Given the description of an element on the screen output the (x, y) to click on. 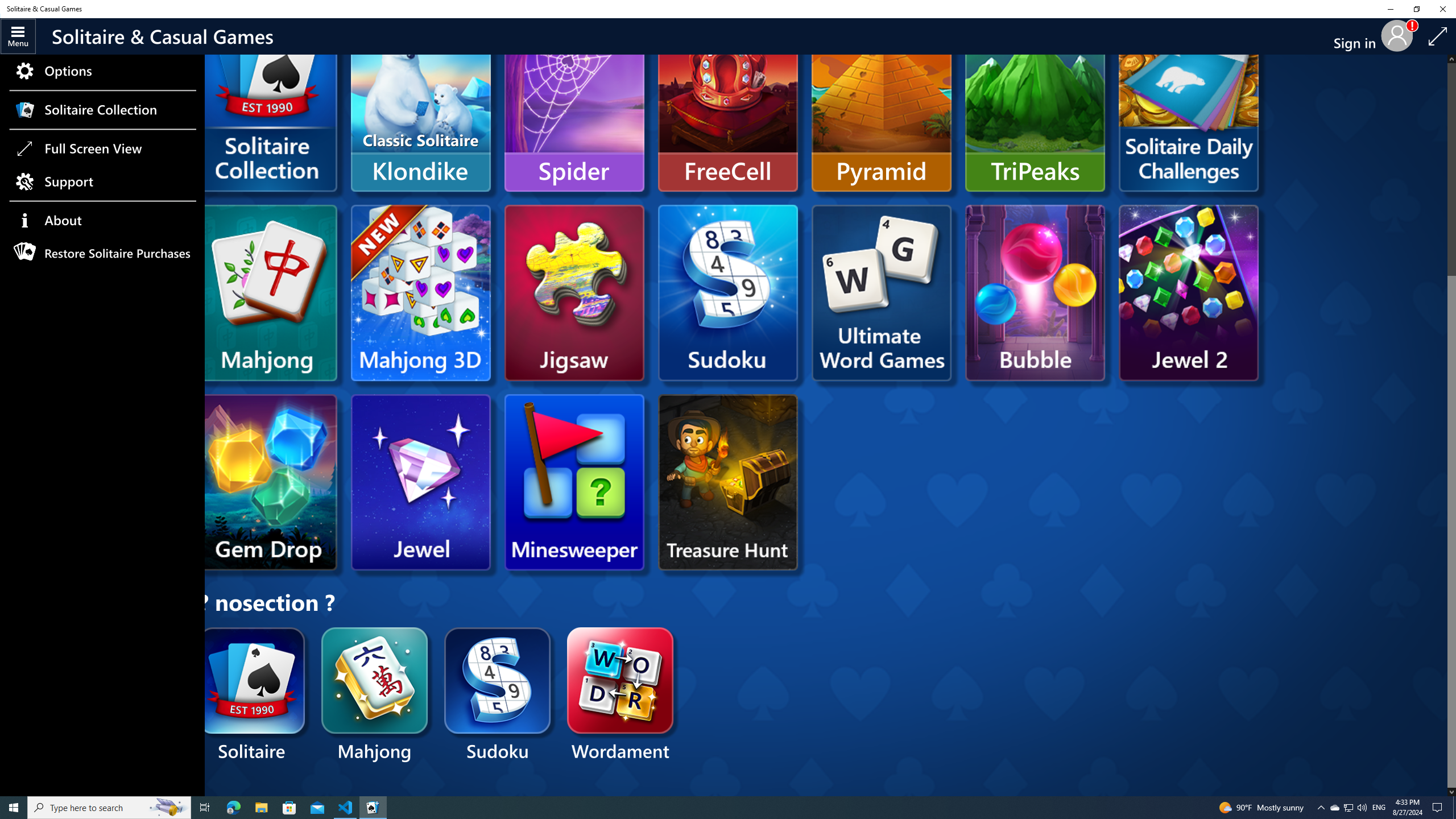
Microsoft UWG (881, 292)
About (102, 220)
Classic Solitaire, Klondike (420, 103)
AutomationID: up_arrow_0 (1451, 58)
Microsoft Jigsaw (574, 292)
Microsoft Sudoku (727, 292)
AutomationID: down_arrow_0 (1451, 791)
Solitaire & Casual Games - 1 running window (373, 807)
Restore Solitaire & Casual Games (1416, 9)
Minimize Solitaire & Casual Games (1390, 9)
